Given the description of an element on the screen output the (x, y) to click on. 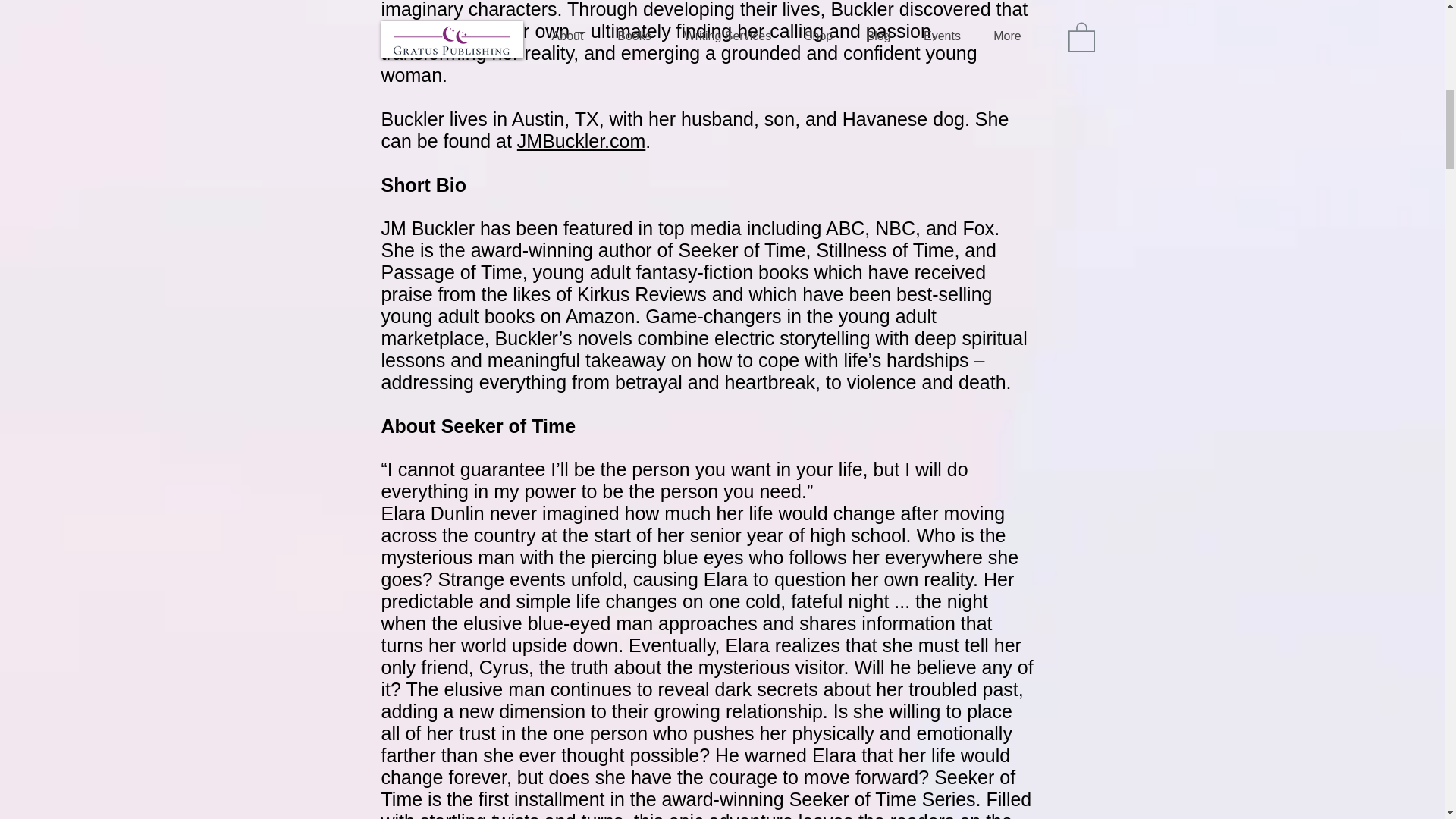
JMBuckler.com (580, 140)
